Given the description of an element on the screen output the (x, y) to click on. 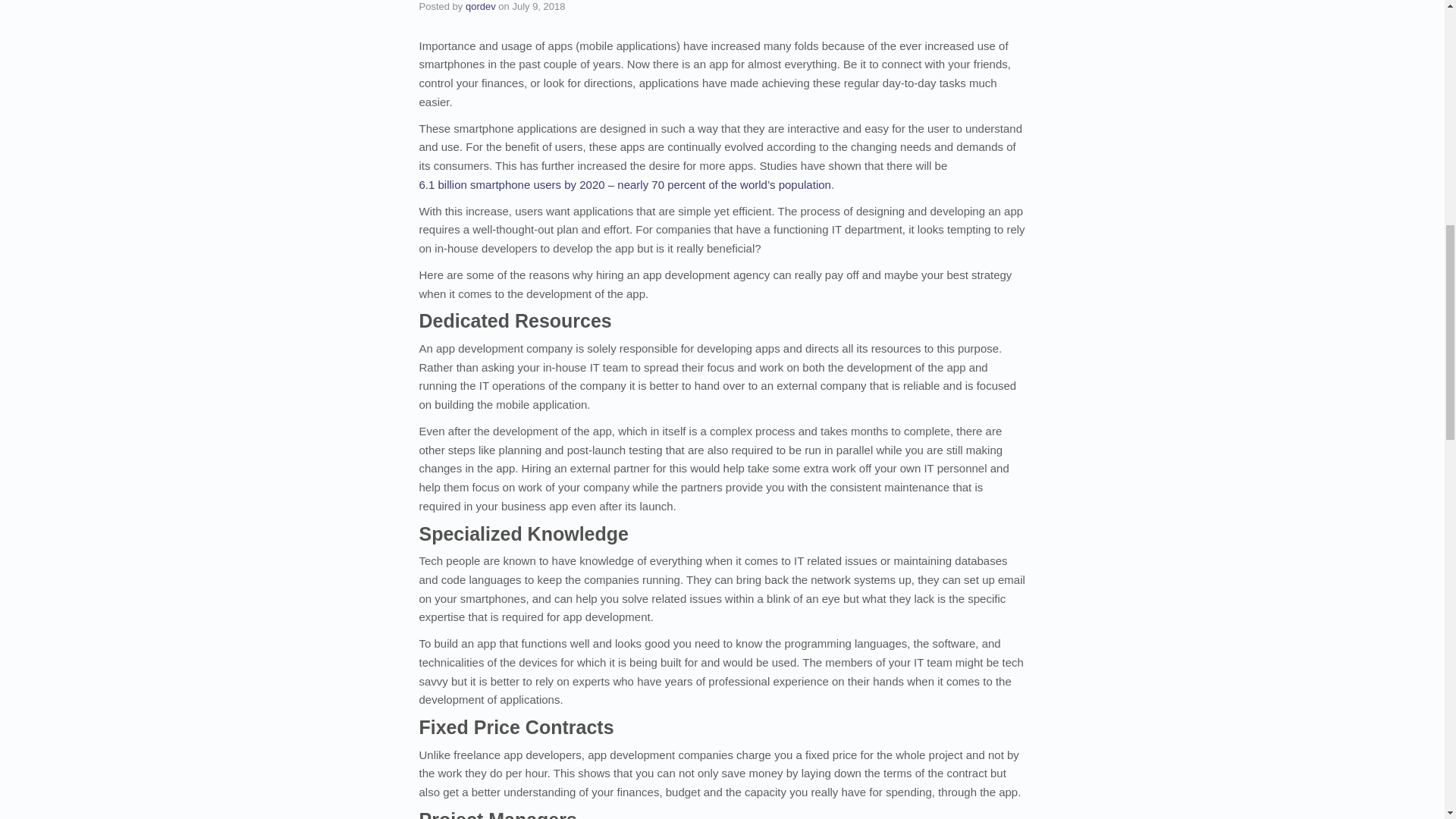
qordev (480, 6)
Posts by qordev (480, 6)
